Given the description of an element on the screen output the (x, y) to click on. 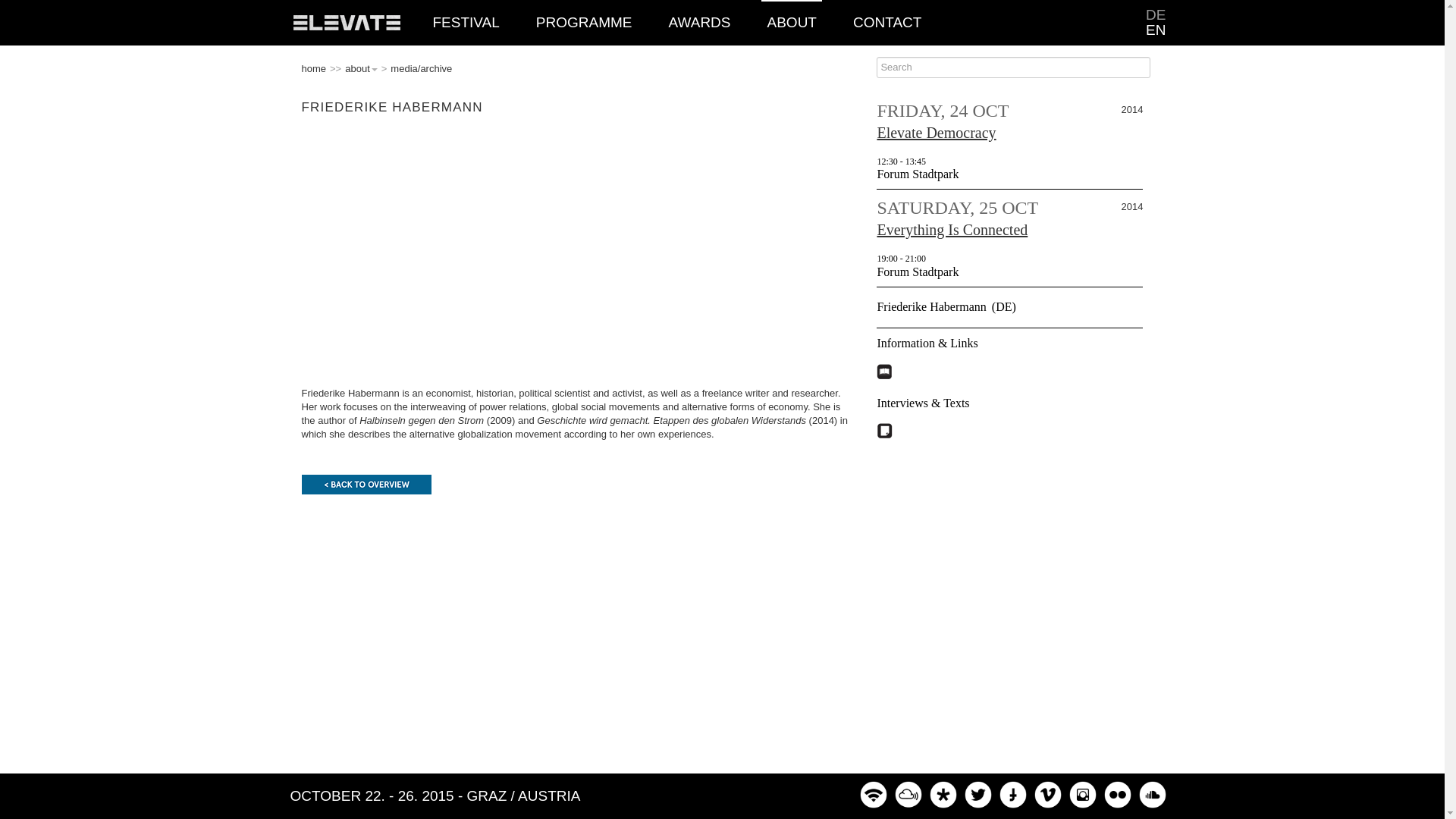
Festival (464, 22)
ABOUT (791, 22)
DE (1155, 14)
Programme (584, 22)
AWARDS (699, 22)
EN (1155, 29)
FESTIVAL (464, 22)
PROGRAMME (584, 22)
CONTACT (886, 22)
Awards (699, 22)
